Given the description of an element on the screen output the (x, y) to click on. 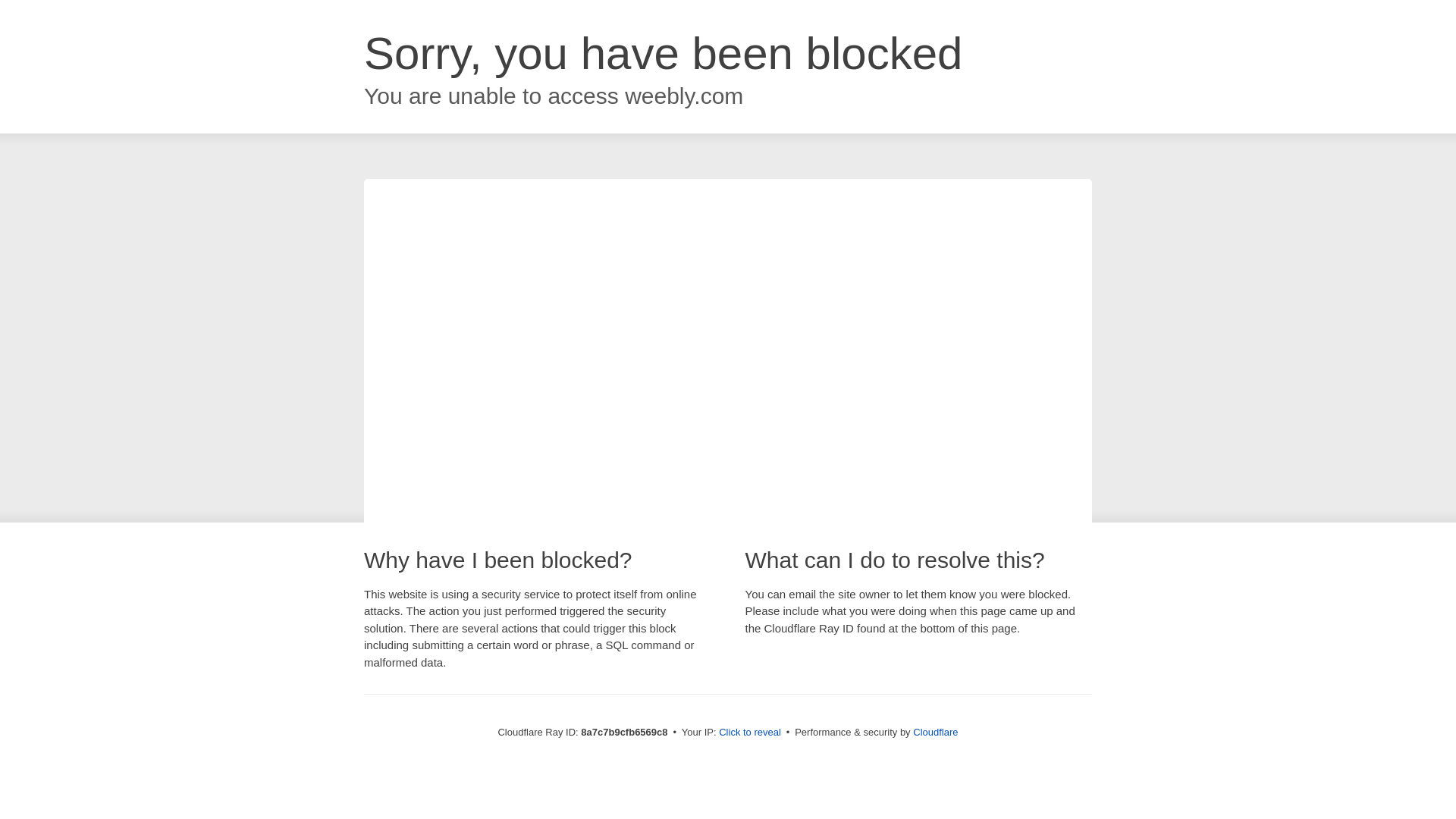
Click to reveal (749, 732)
Cloudflare (935, 731)
